Given the description of an element on the screen output the (x, y) to click on. 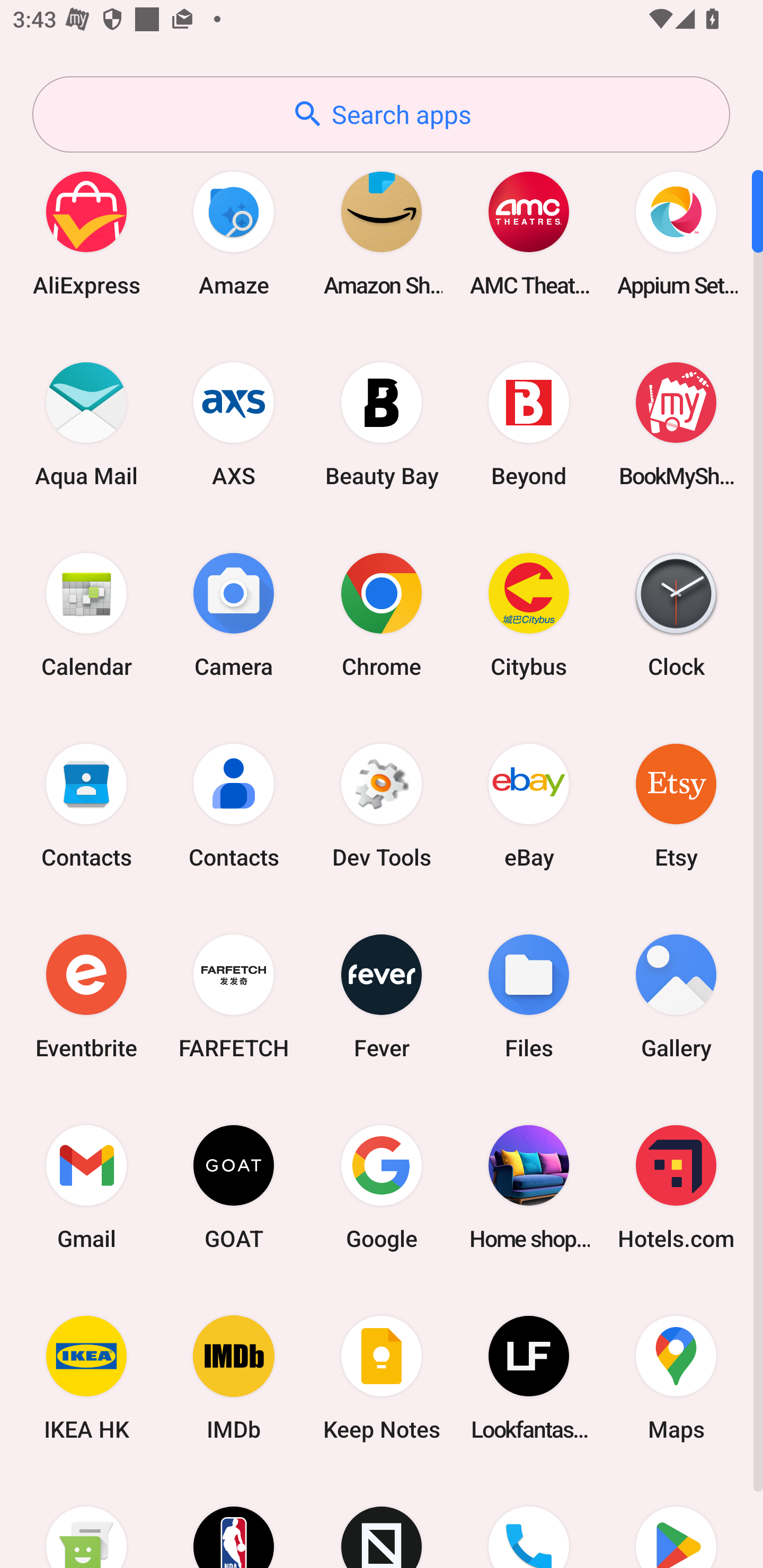
  Search apps (381, 114)
AliExpress (86, 233)
Amaze (233, 233)
Amazon Shopping (381, 233)
AMC Theatres (528, 233)
Appium Settings (676, 233)
Aqua Mail (86, 424)
AXS (233, 424)
Beauty Bay (381, 424)
Beyond (528, 424)
BookMyShow (676, 424)
Calendar (86, 614)
Camera (233, 614)
Chrome (381, 614)
Citybus (528, 614)
Clock (676, 614)
Contacts (86, 805)
Contacts (233, 805)
Dev Tools (381, 805)
eBay (528, 805)
Etsy (676, 805)
Eventbrite (86, 996)
FARFETCH (233, 996)
Fever (381, 996)
Files (528, 996)
Gallery (676, 996)
Gmail (86, 1186)
GOAT (233, 1186)
Google (381, 1186)
Home shopping (528, 1186)
Hotels.com (676, 1186)
IKEA HK (86, 1377)
IMDb (233, 1377)
Keep Notes (381, 1377)
Lookfantastic (528, 1377)
Maps (676, 1377)
